Given the description of an element on the screen output the (x, y) to click on. 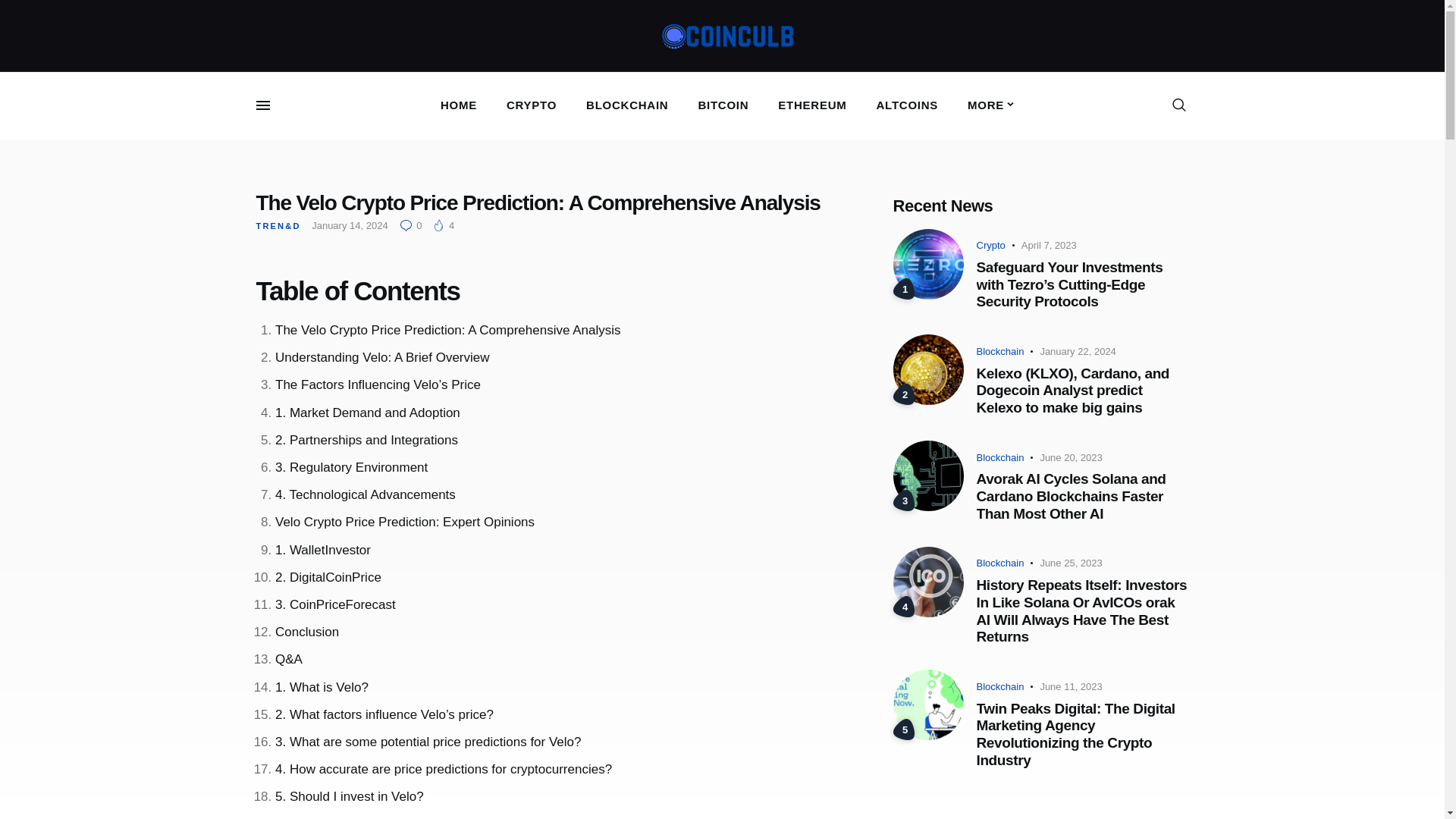
4. Technological Advancements (365, 494)
1. Market Demand and Adoption (367, 412)
3. CoinPriceForecast (335, 604)
0 (414, 225)
Understanding Velo: A Brief Overview (382, 357)
HOME (458, 105)
Velo Crypto Price Prediction: Expert Opinions (404, 522)
View all posts in Blockchain (1000, 457)
View all posts in Blockchain (1000, 686)
January 14, 2024 (349, 225)
The Velo Crypto Price Prediction: A Comprehensive Analysis (447, 329)
Like (444, 225)
ALTCOINS (907, 105)
View all posts in Blockchain (1000, 562)
BITCOIN (722, 105)
